Given the description of an element on the screen output the (x, y) to click on. 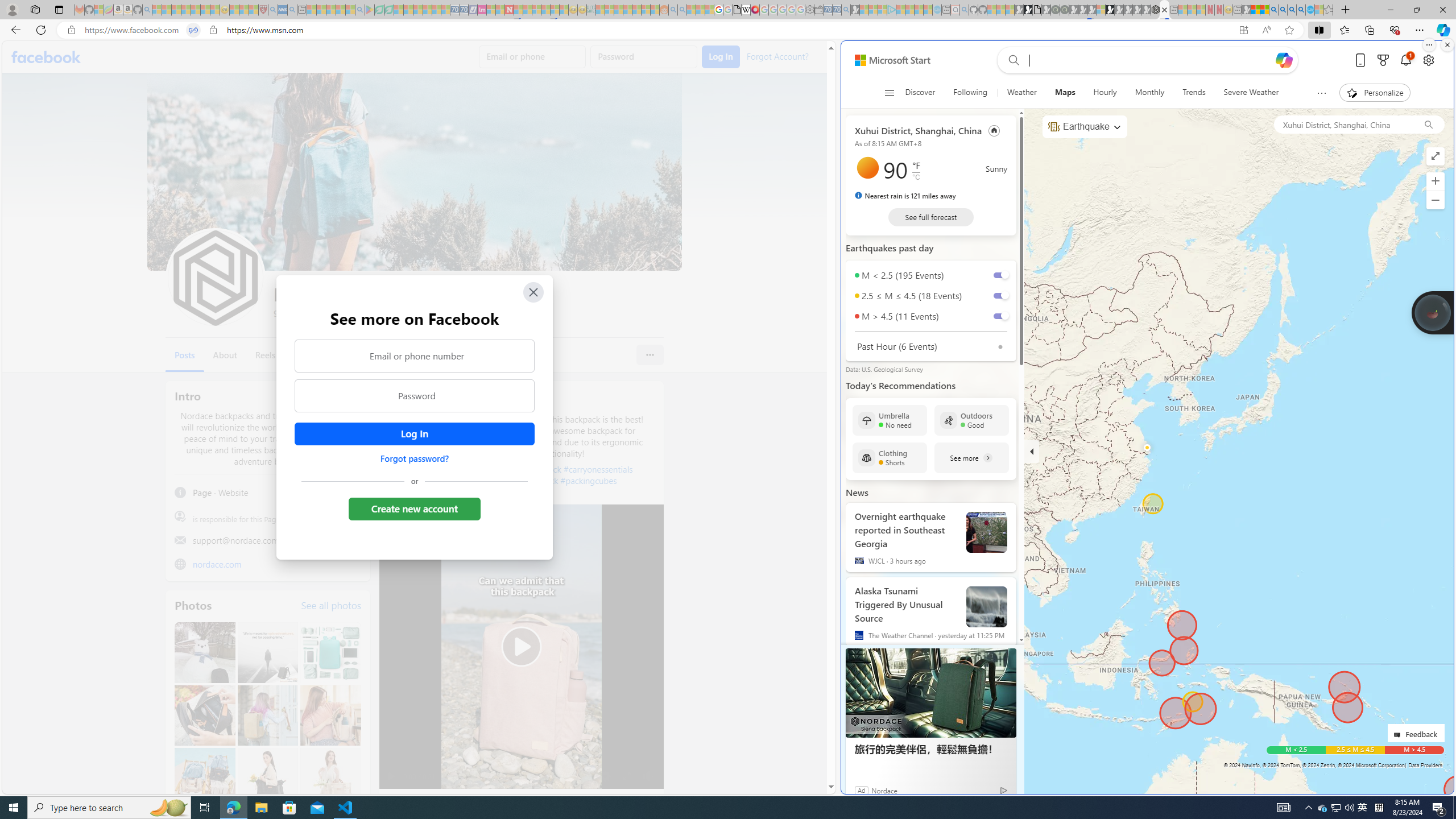
Refresh (40, 29)
Kinda Frugal - MSN - Sleeping (636, 9)
Overnight earthquake reported in Southeast Georgia (905, 527)
Nordace - Cooler Bags (1154, 9)
New Report Confirms 2023 Was Record Hot | Watch - Sleeping (195, 9)
Open settings (1427, 60)
Email or phone (532, 56)
Following (970, 92)
